Given the description of an element on the screen output the (x, y) to click on. 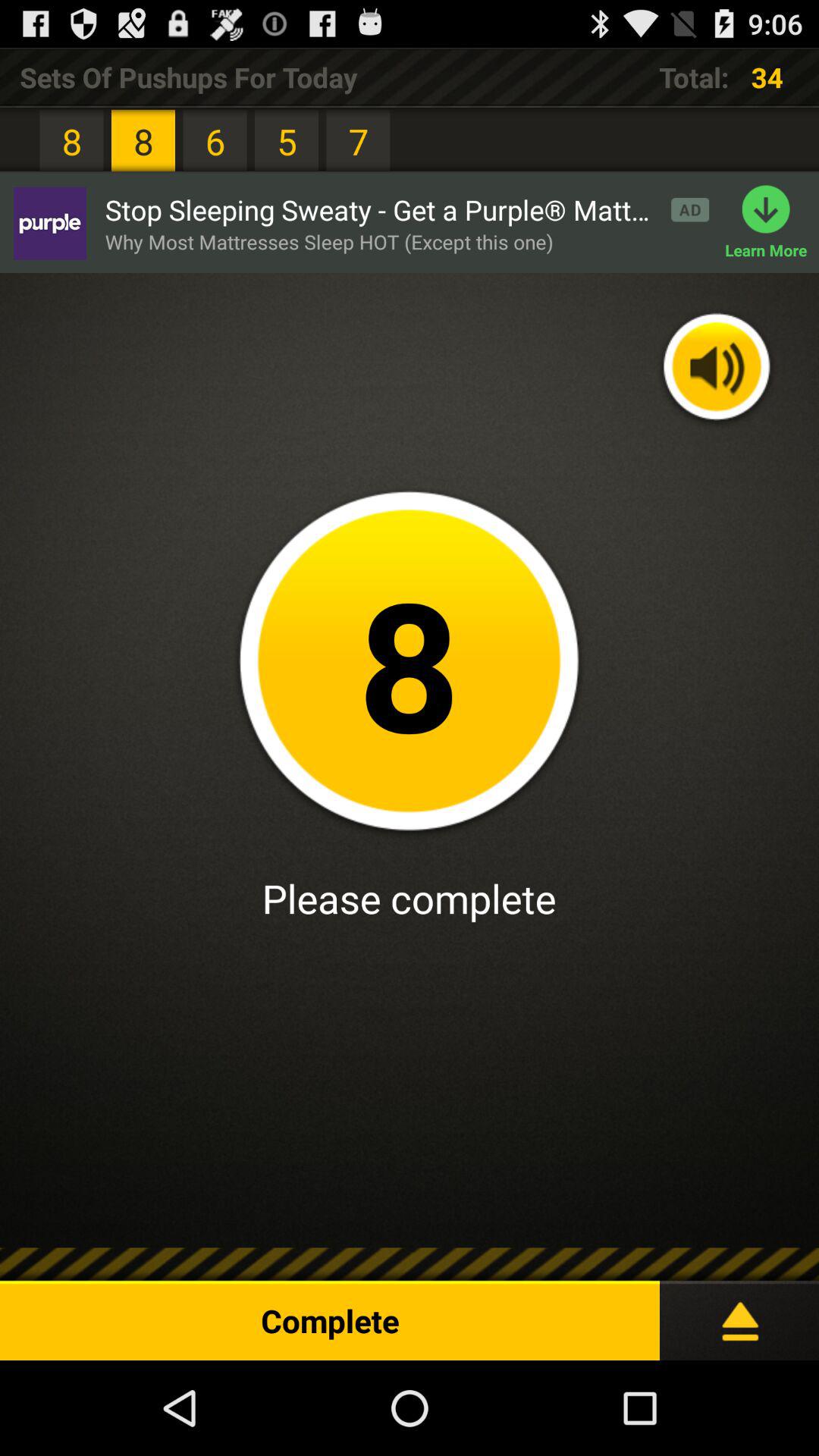
jump to stop sleeping sweaty item (407, 209)
